Given the description of an element on the screen output the (x, y) to click on. 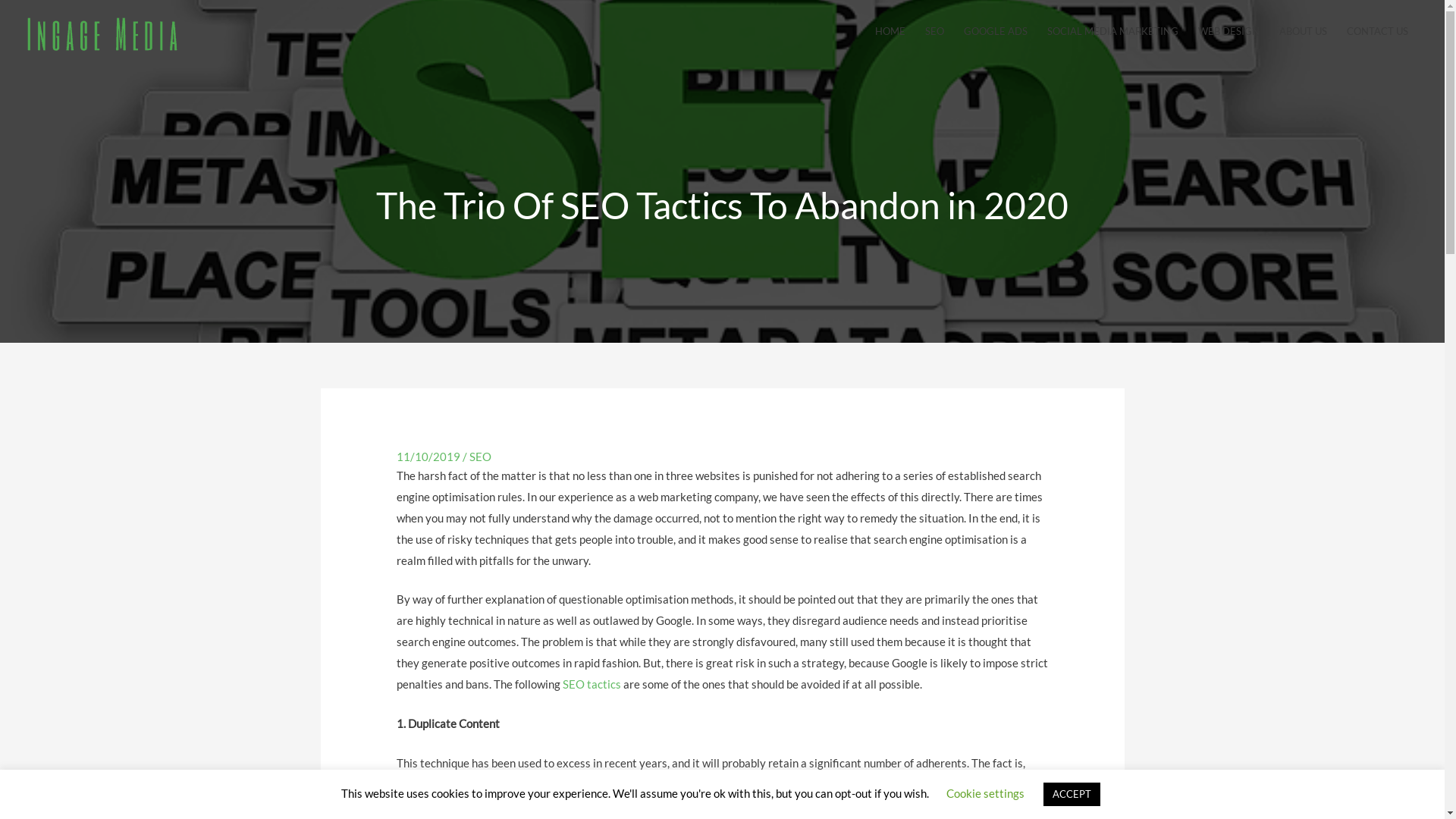
ABOUT US Element type: text (1302, 30)
GOOGLE ADS Element type: text (995, 30)
ACCEPT Element type: text (1071, 794)
CONTACT US Element type: text (1377, 30)
HOME Element type: text (890, 30)
SEO tactics Element type: text (591, 683)
WEB DESIGN Element type: text (1228, 30)
Cookie settings Element type: text (985, 793)
SEO Element type: text (934, 30)
SOCIAL MEDIA MARKETING Element type: text (1112, 30)
SEO Element type: text (480, 456)
